Given the description of an element on the screen output the (x, y) to click on. 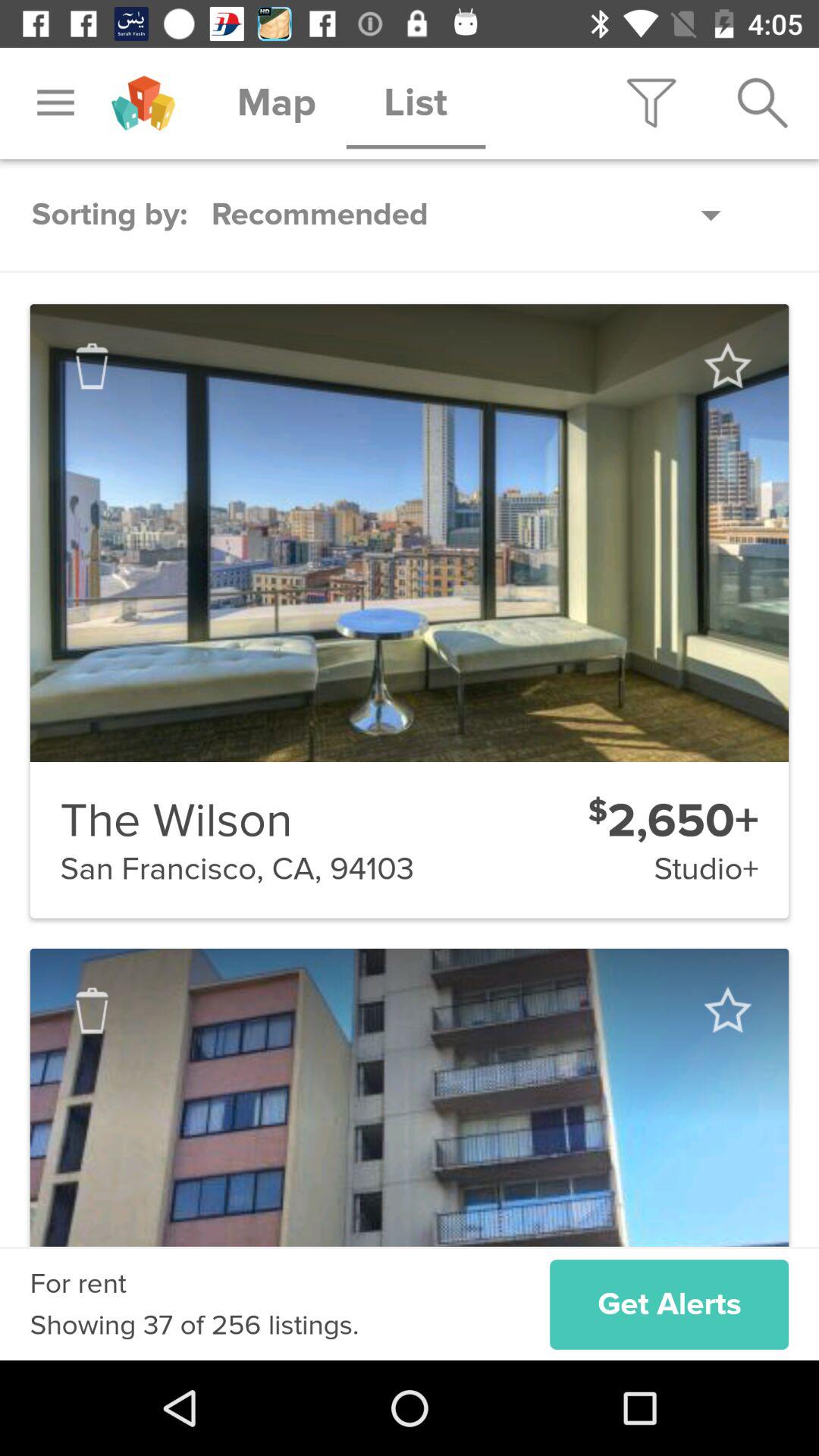
trash image (92, 366)
